Given the description of an element on the screen output the (x, y) to click on. 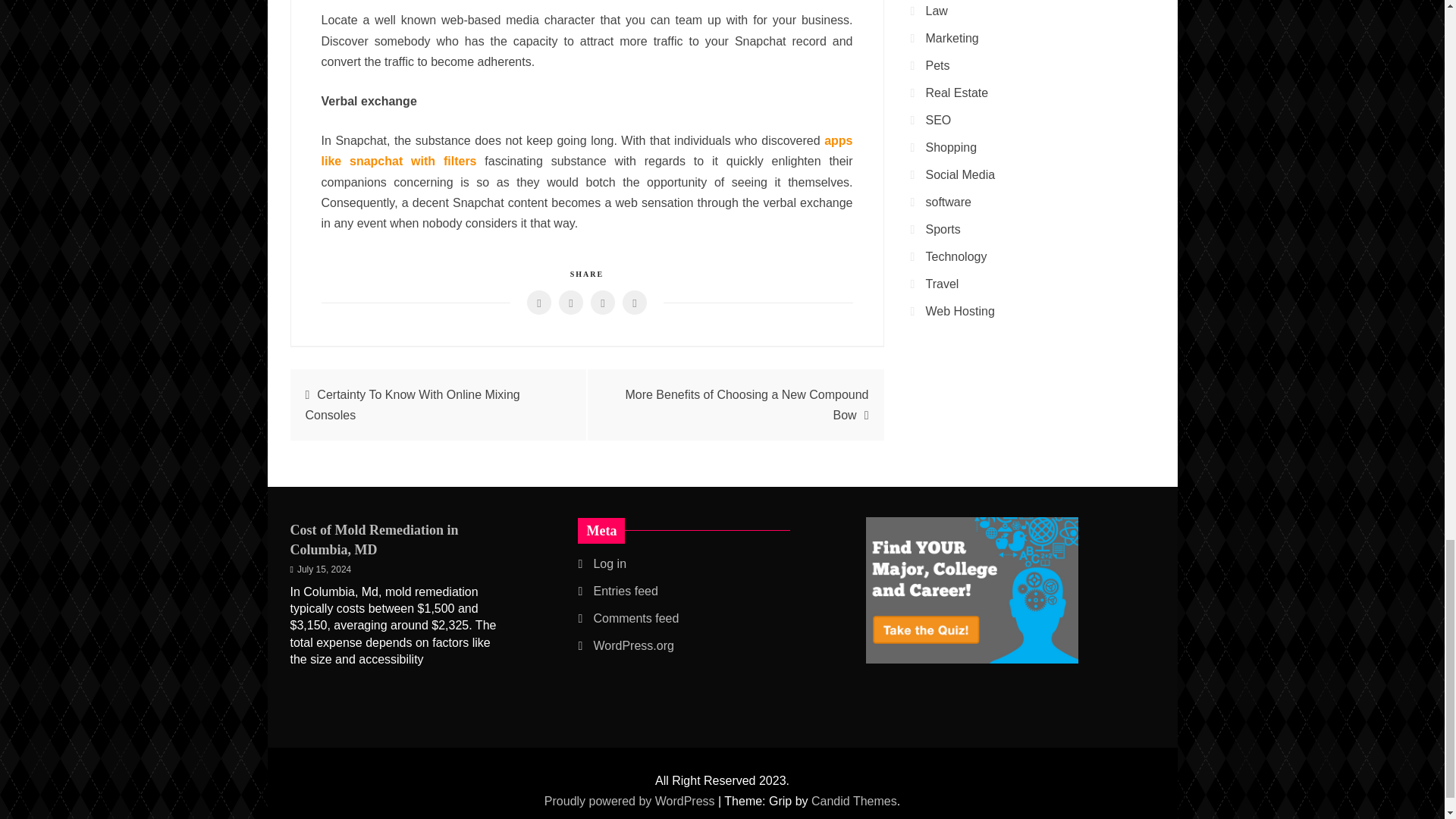
apps like snapchat with filters (587, 150)
More Benefits of Choosing a New Compound Bow (745, 404)
Certainty To Know With Online Mixing Consoles (411, 404)
